Given the description of an element on the screen output the (x, y) to click on. 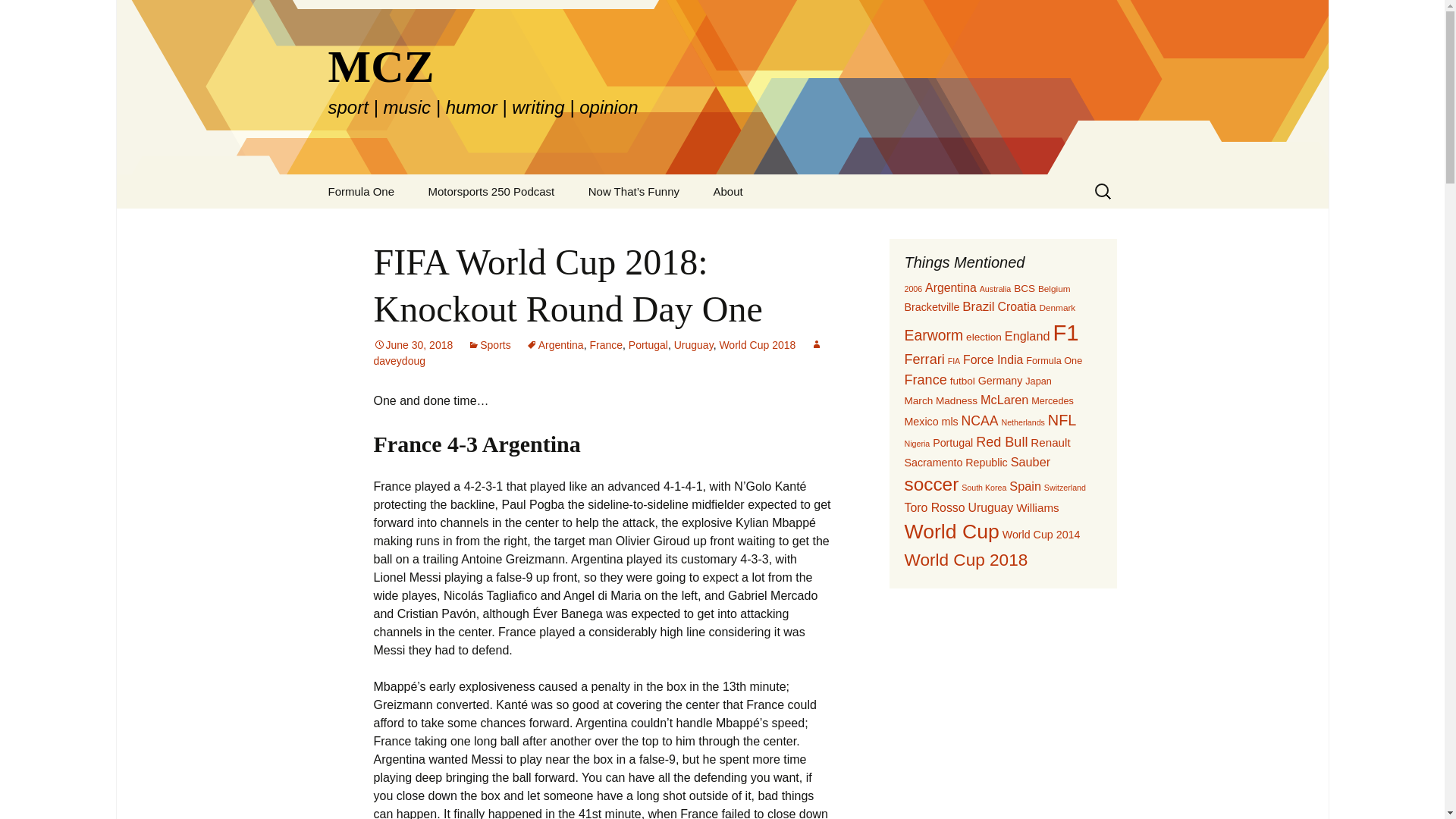
View all posts by daveydoug (597, 352)
Formula One (361, 191)
Search (18, 15)
Sports (489, 345)
About (728, 191)
France (606, 345)
2025 F1 Silly Season (388, 225)
